Given the description of an element on the screen output the (x, y) to click on. 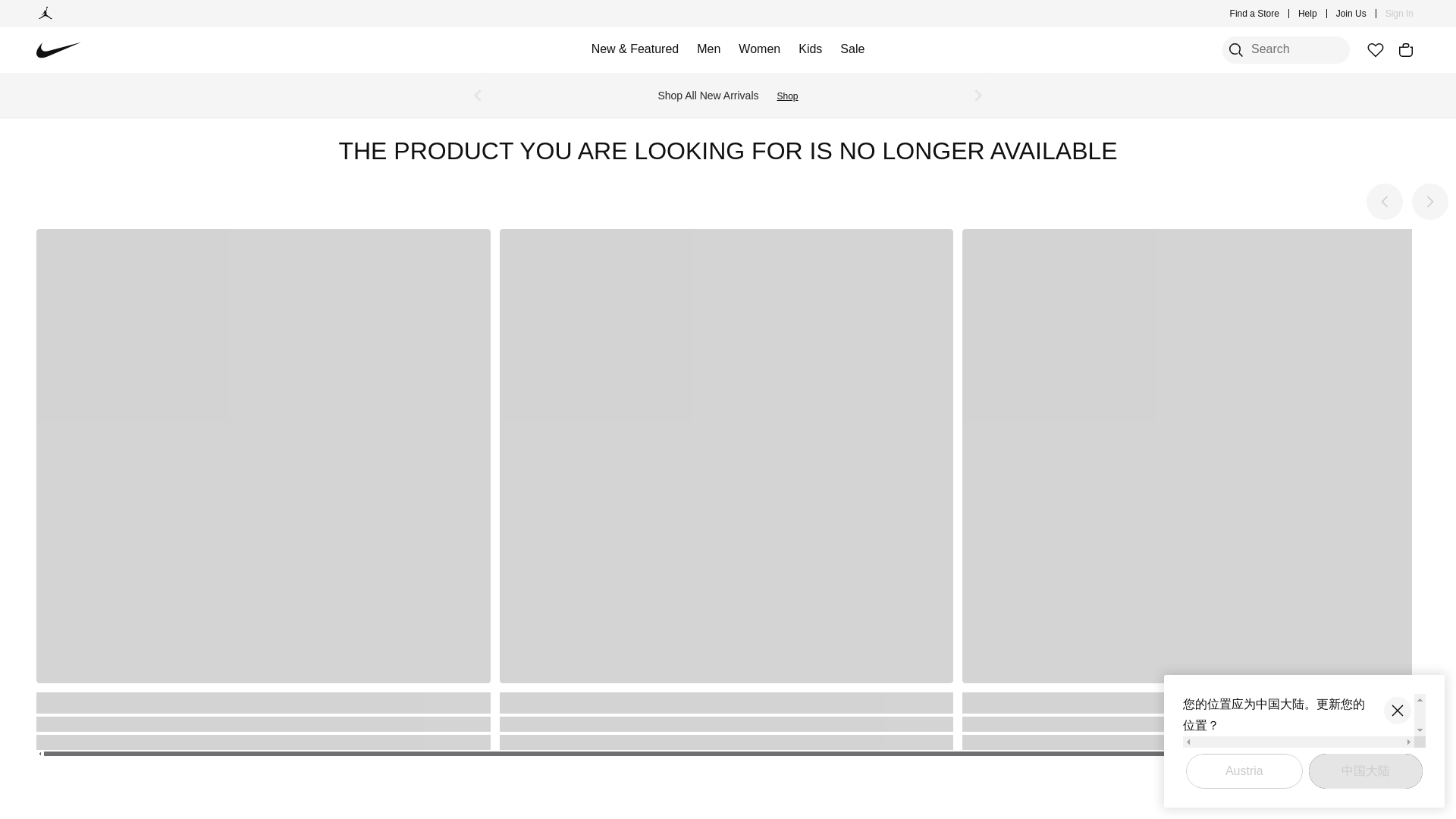
Help (1307, 13)
Bag Items: 0 (1405, 49)
Join Us (1351, 13)
Favourites (1375, 49)
Sign In (1399, 13)
Find a Store (1254, 13)
